Given the description of an element on the screen output the (x, y) to click on. 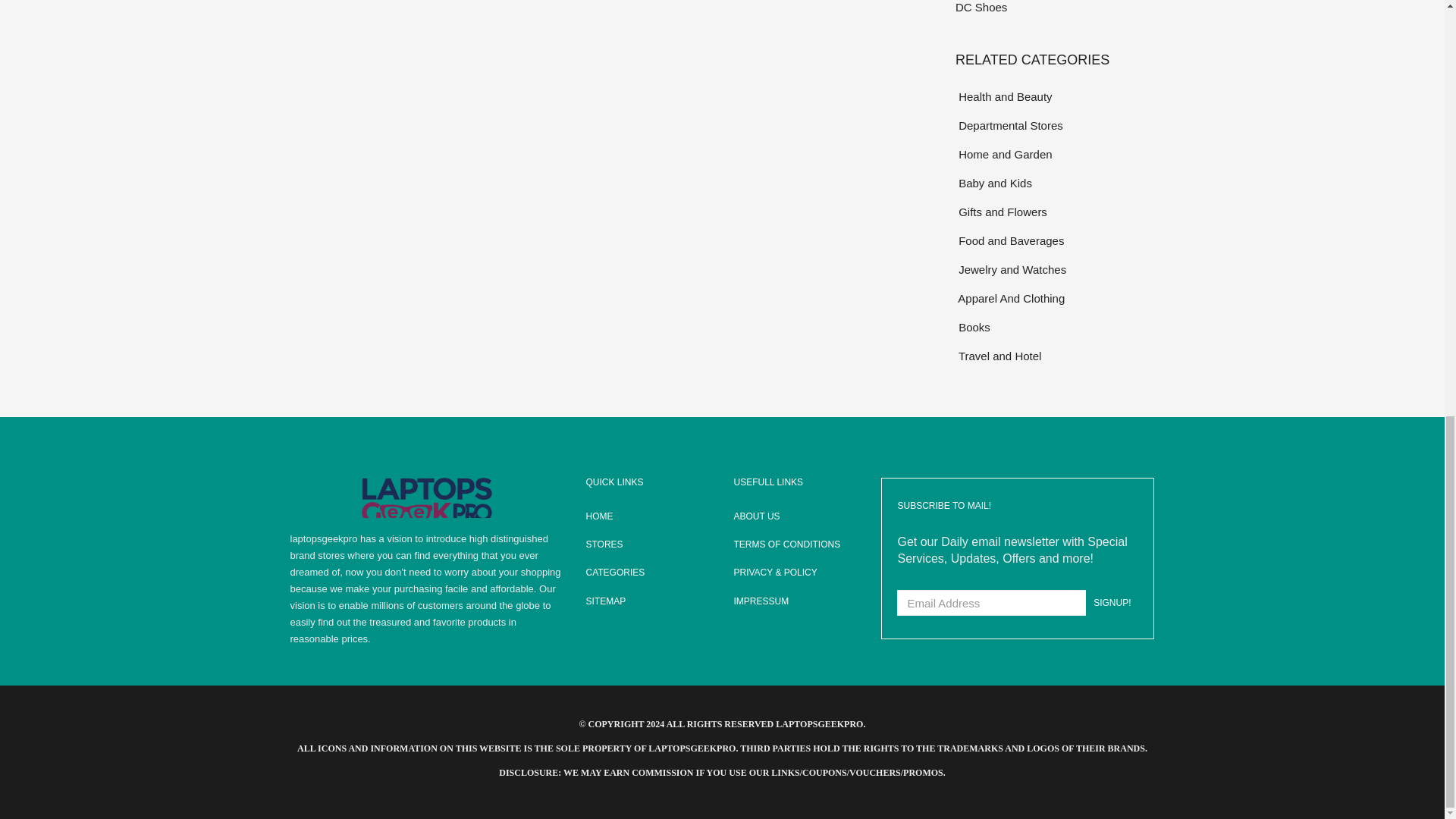
 Food and Baverages (1054, 240)
CATEGORIES (647, 572)
 Home and Garden (1054, 153)
 Gifts and Flowers (1054, 211)
 Departmental Stores (1054, 125)
DC Shoes (1054, 8)
HOME (647, 516)
 Jewelry and Watches (1054, 269)
 Baby and Kids (1054, 182)
STORES (647, 544)
